Given the description of an element on the screen output the (x, y) to click on. 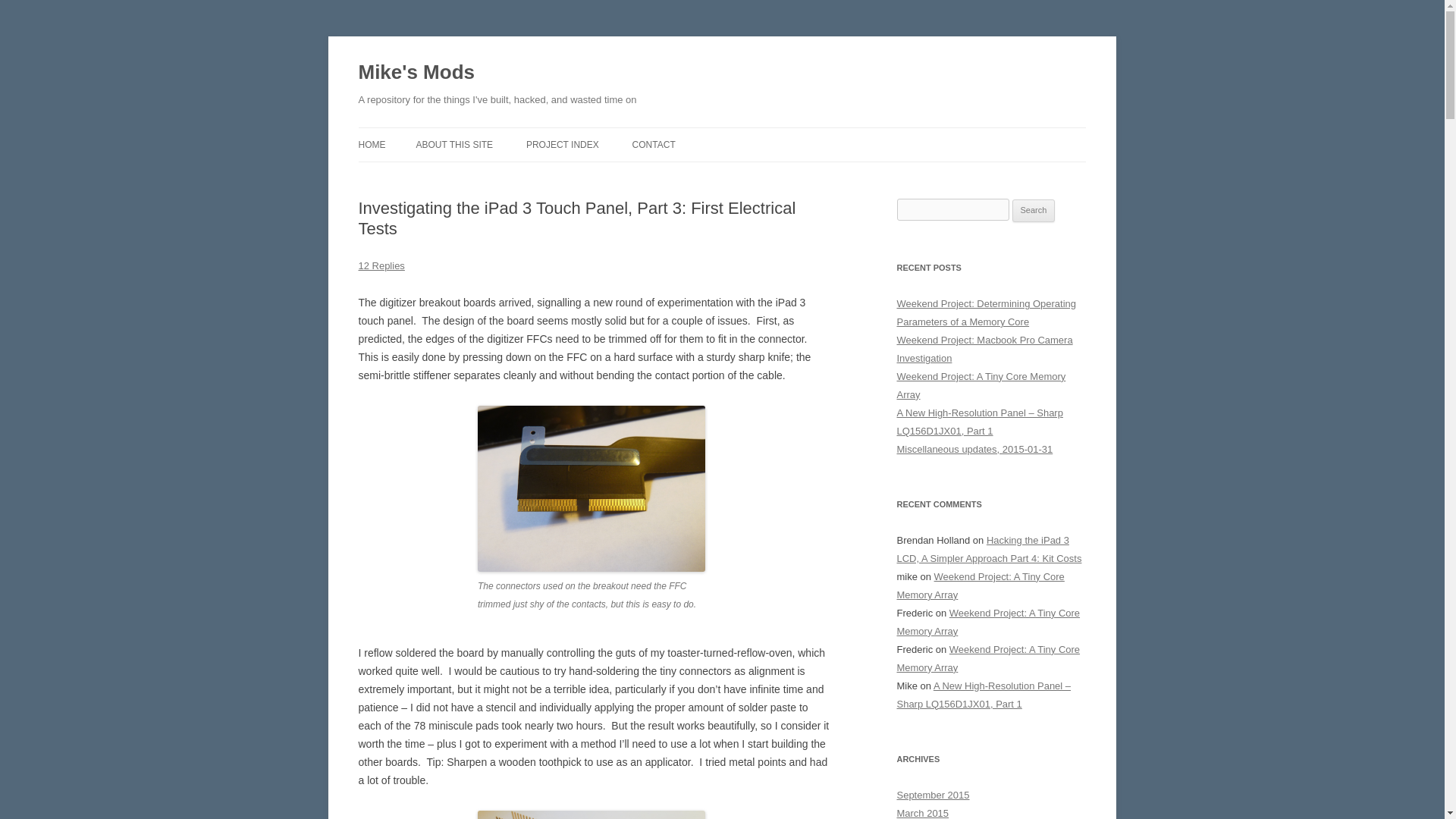
HOME (371, 144)
ABOUT THIS SITE (453, 144)
12 Replies (381, 265)
CONTACT (653, 144)
Mike's Mods (416, 72)
Skip to content (757, 132)
Mike's Mods (416, 72)
Search (1033, 210)
Skip to content (757, 132)
PROJECT INDEX (561, 144)
